Given the description of an element on the screen output the (x, y) to click on. 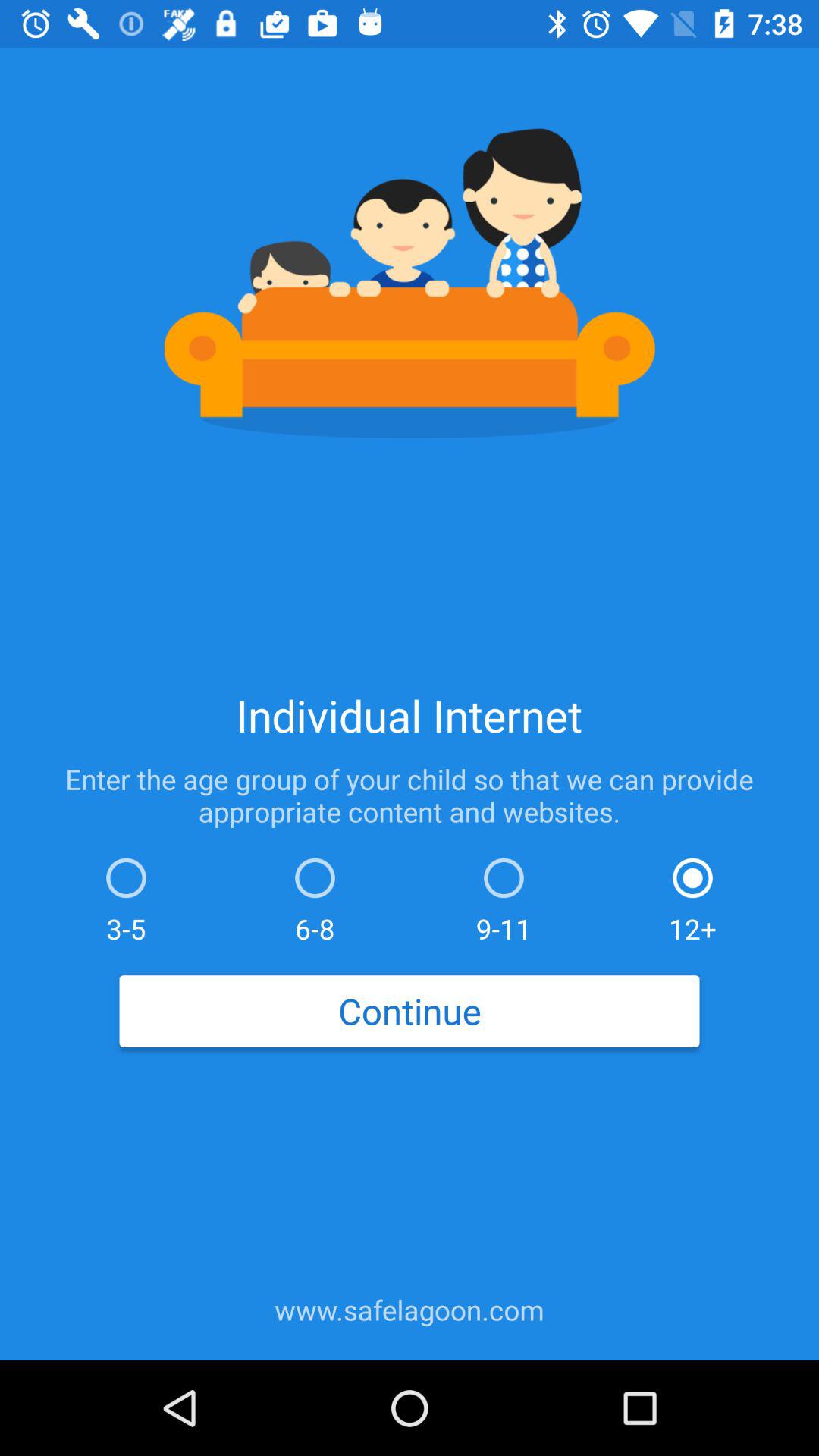
turn on 12+ (692, 896)
